Given the description of an element on the screen output the (x, y) to click on. 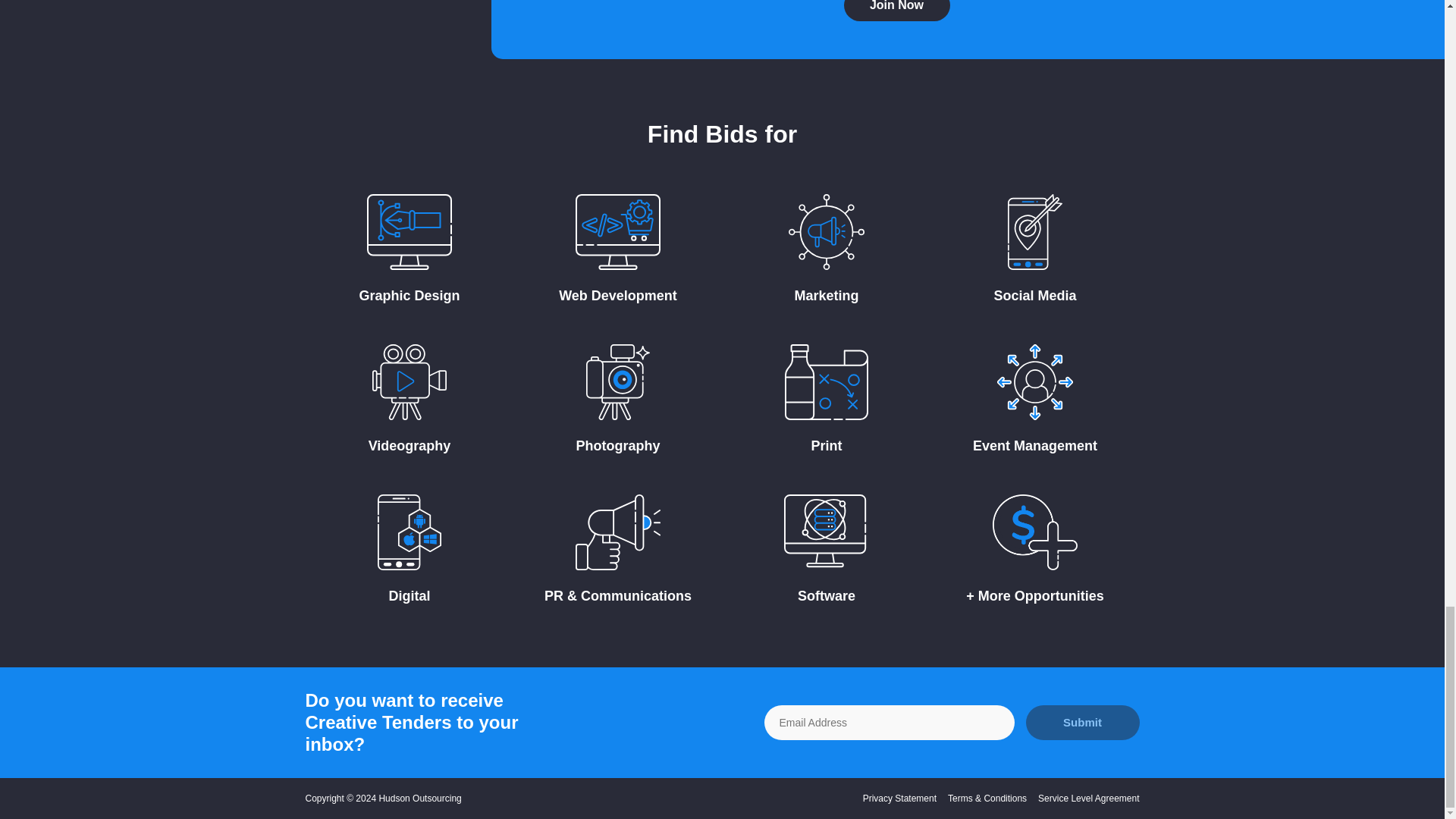
Submit (1081, 722)
Privacy Statement (899, 798)
Join Now (896, 10)
Service Level Agreement (1088, 798)
